Given the description of an element on the screen output the (x, y) to click on. 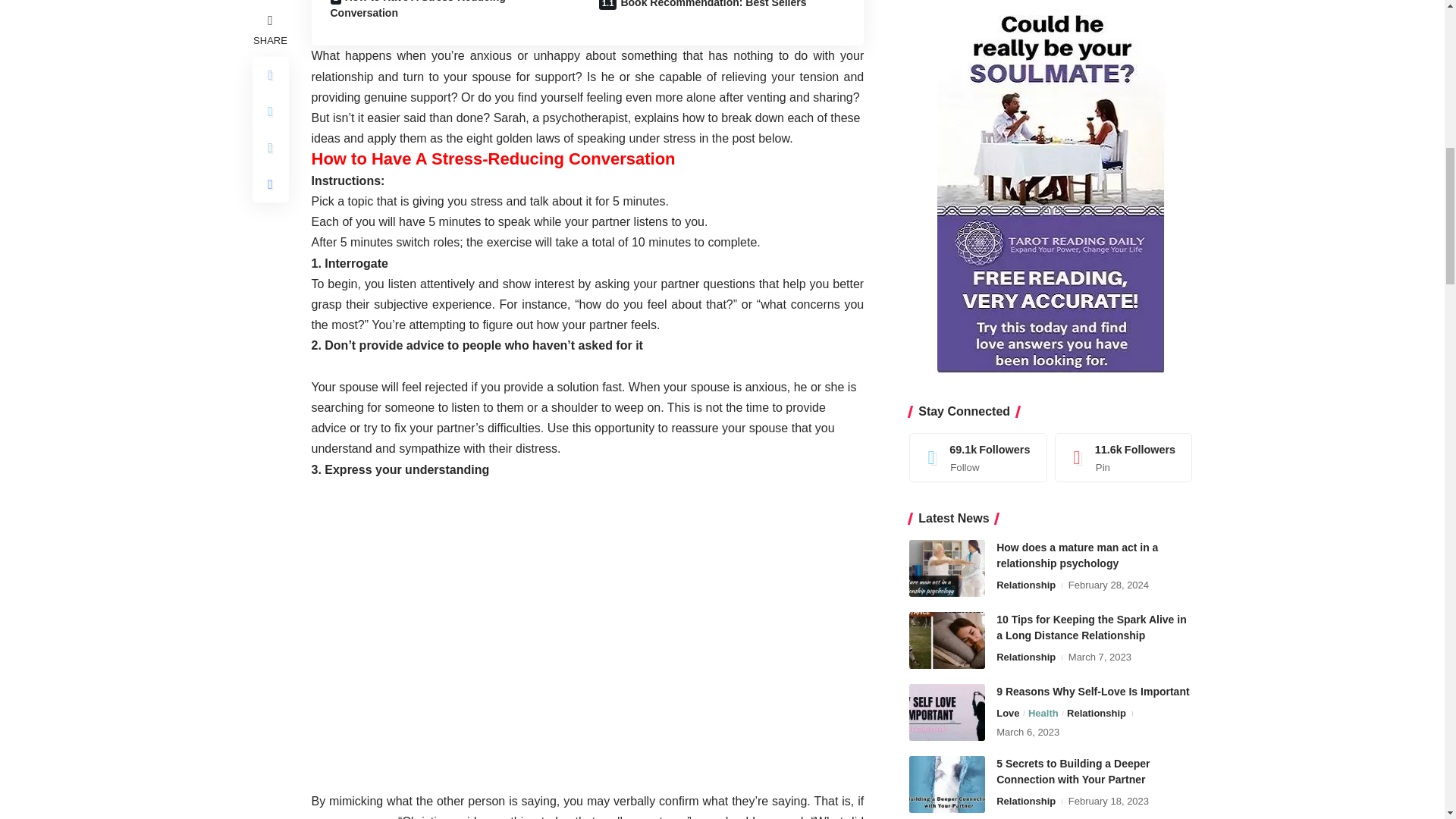
How does a mature man act in a relationship psychology (946, 35)
5 Secrets to Building a Deeper Connection with Your Partner (946, 251)
9 Reasons Why Self-Love Is Important (946, 179)
